Given the description of an element on the screen output the (x, y) to click on. 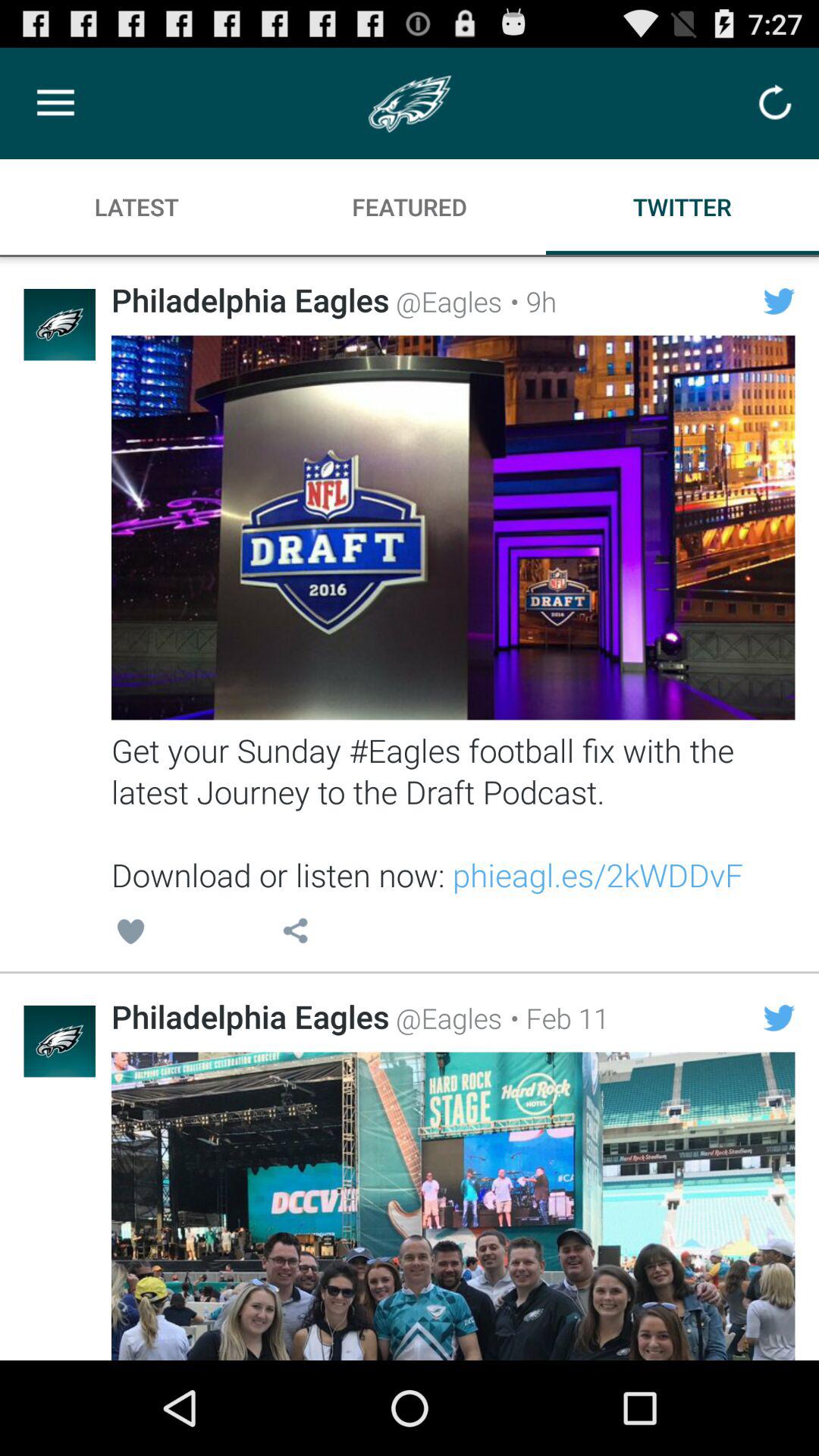
press icon below the get your sunday item (295, 933)
